Given the description of an element on the screen output the (x, y) to click on. 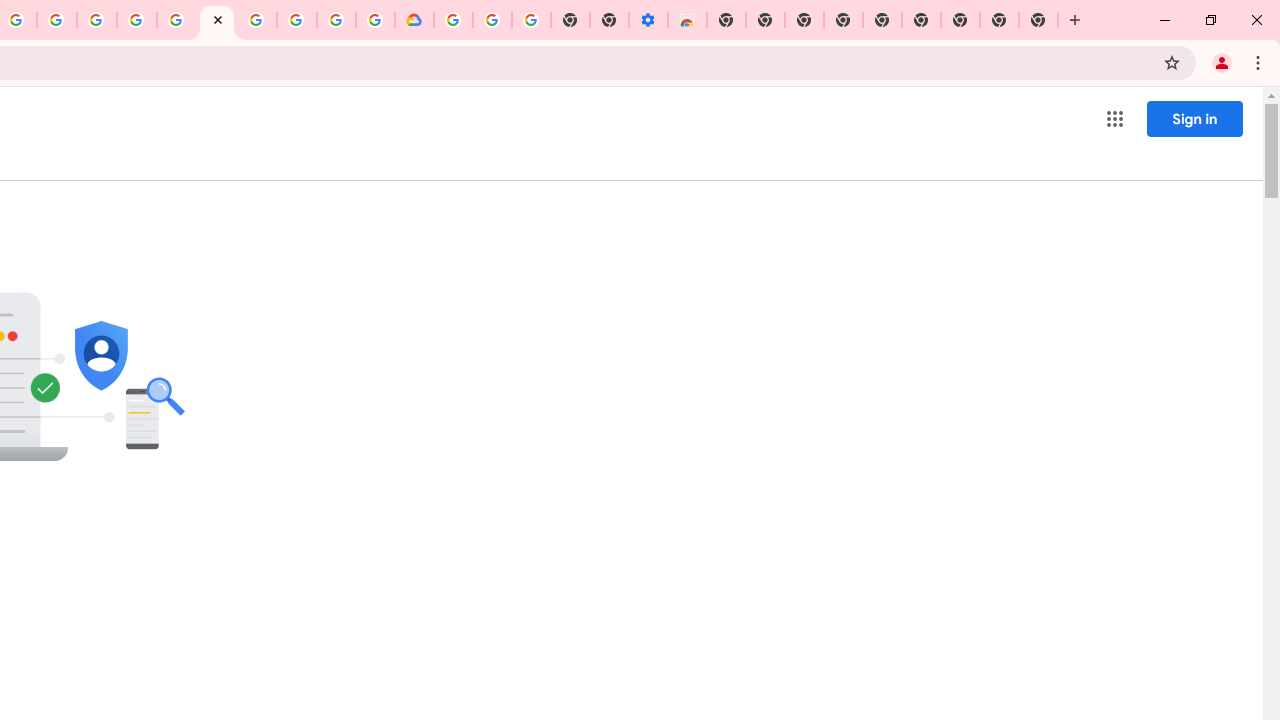
Create your Google Account (56, 20)
Ad Settings (136, 20)
Settings - Accessibility (648, 20)
Chrome Web Store - Accessibility extensions (687, 20)
Google Account Help (256, 20)
New Tab (726, 20)
Google Account Help (491, 20)
New Tab (1038, 20)
